Given the description of an element on the screen output the (x, y) to click on. 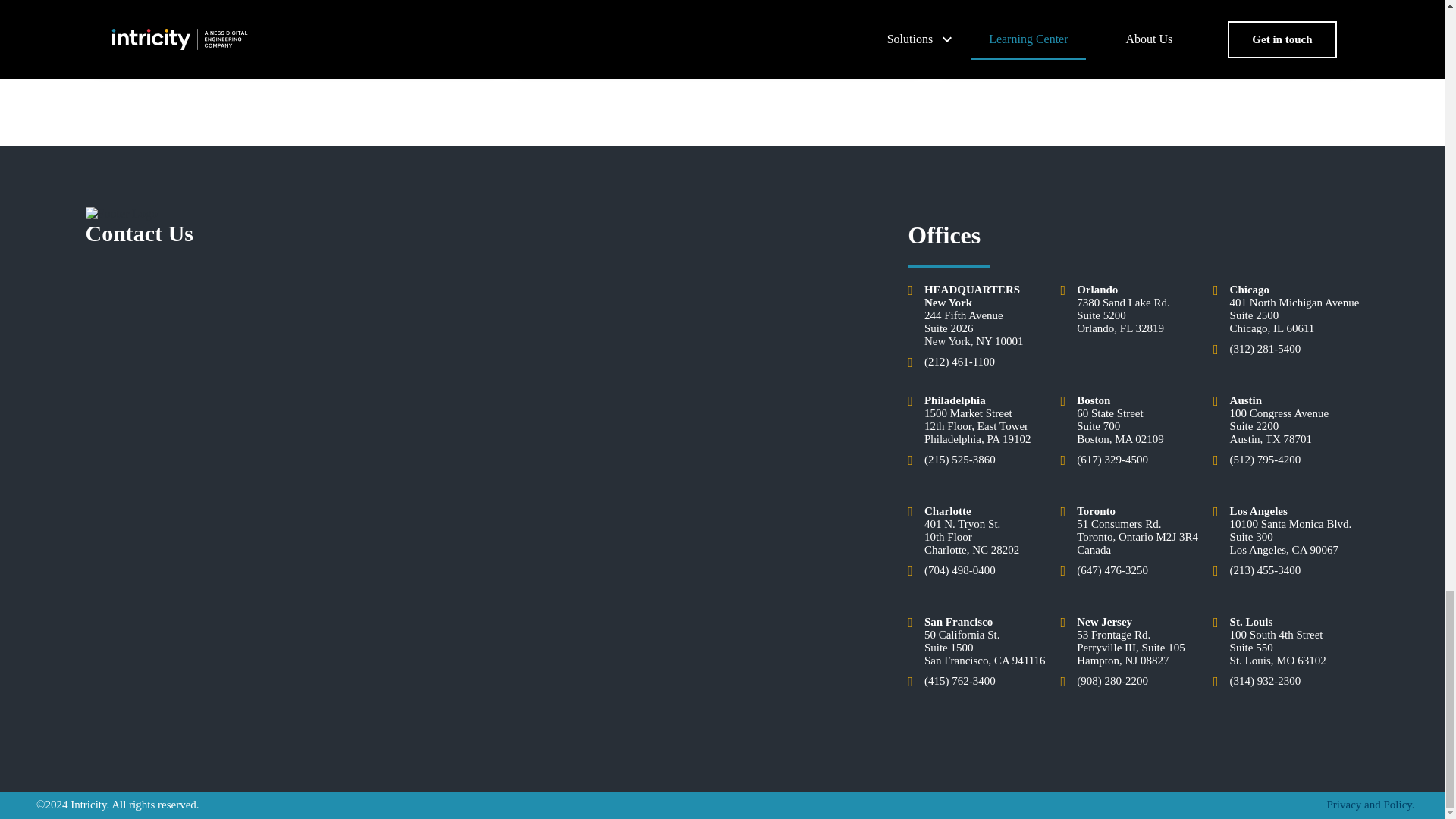
Read More (1014, 21)
Read More (590, 21)
Register now (171, 21)
